Given the description of an element on the screen output the (x, y) to click on. 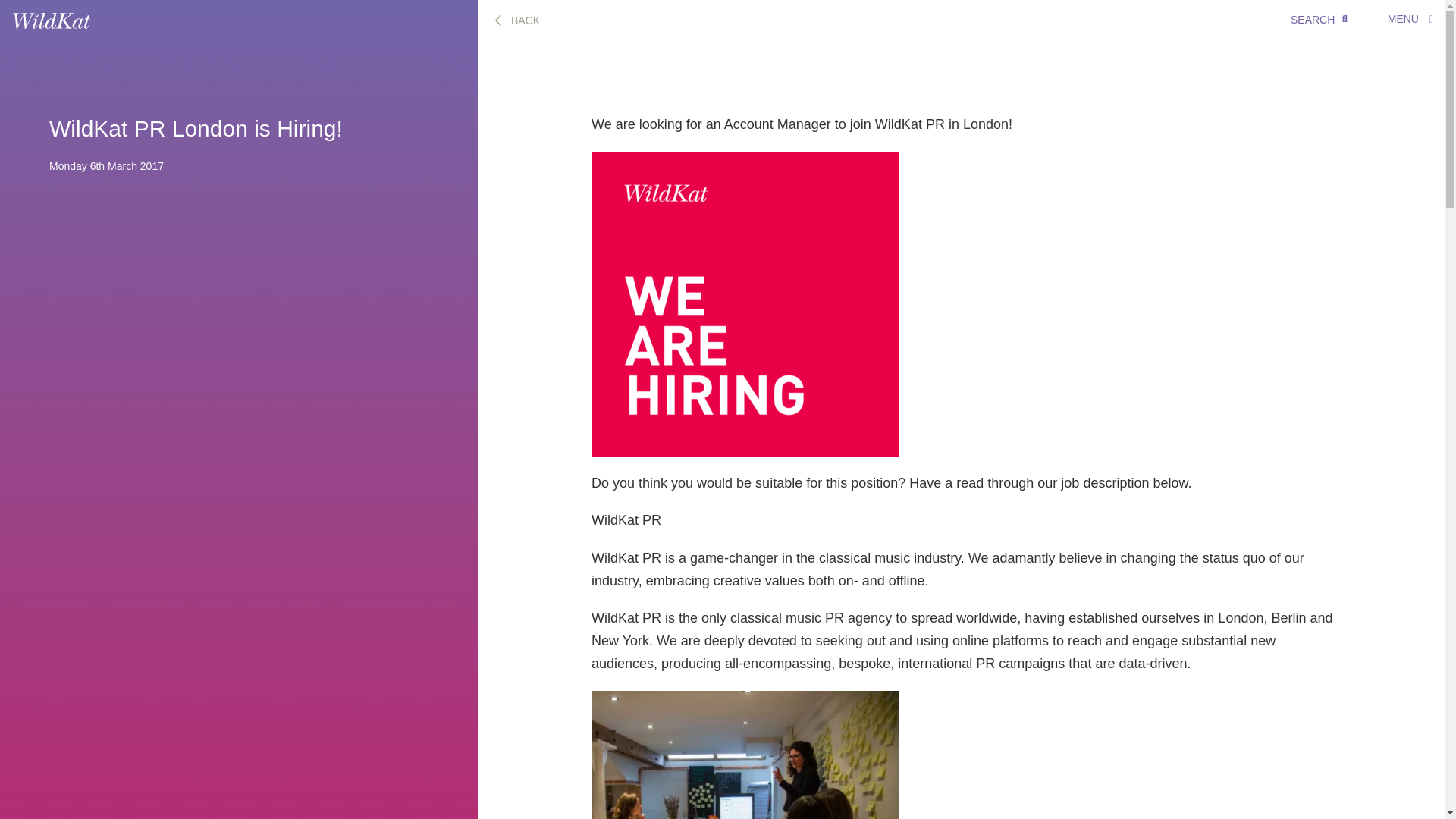
BACK (516, 20)
